Given the description of an element on the screen output the (x, y) to click on. 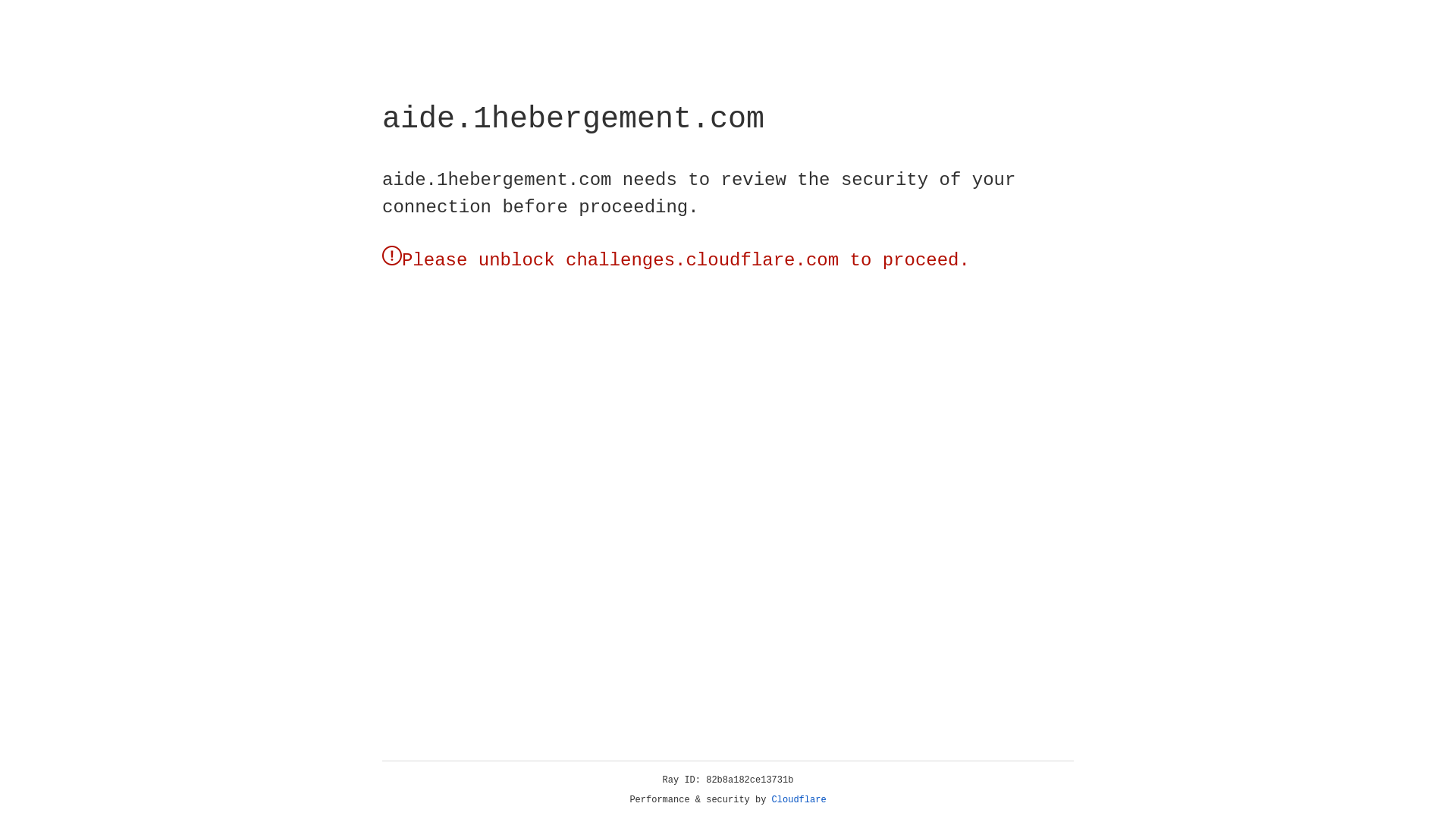
Cloudflare Element type: text (798, 799)
